Given the description of an element on the screen output the (x, y) to click on. 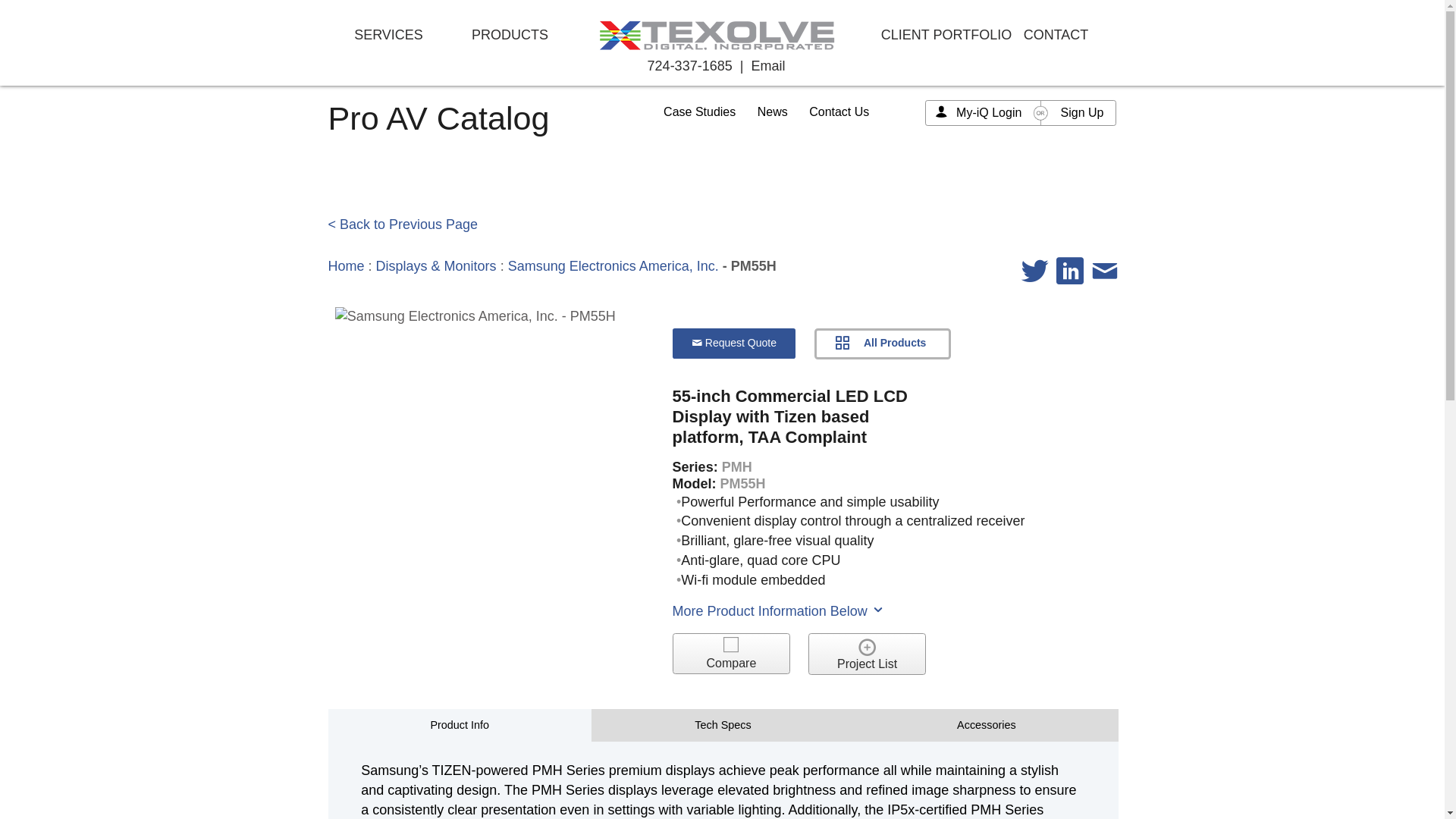
Home (345, 265)
SERVICES (387, 34)
Contact Us (839, 111)
Samsung Electronics America, Inc. (613, 265)
News (772, 111)
Case Studies (699, 111)
Email (767, 65)
CONTACT (1055, 34)
PRODUCTS (509, 34)
Sign Up (1082, 112)
More Product Information Below (778, 611)
My-iQ Login (989, 112)
CLIENT PORTFOLIO (945, 35)
